Given the description of an element on the screen output the (x, y) to click on. 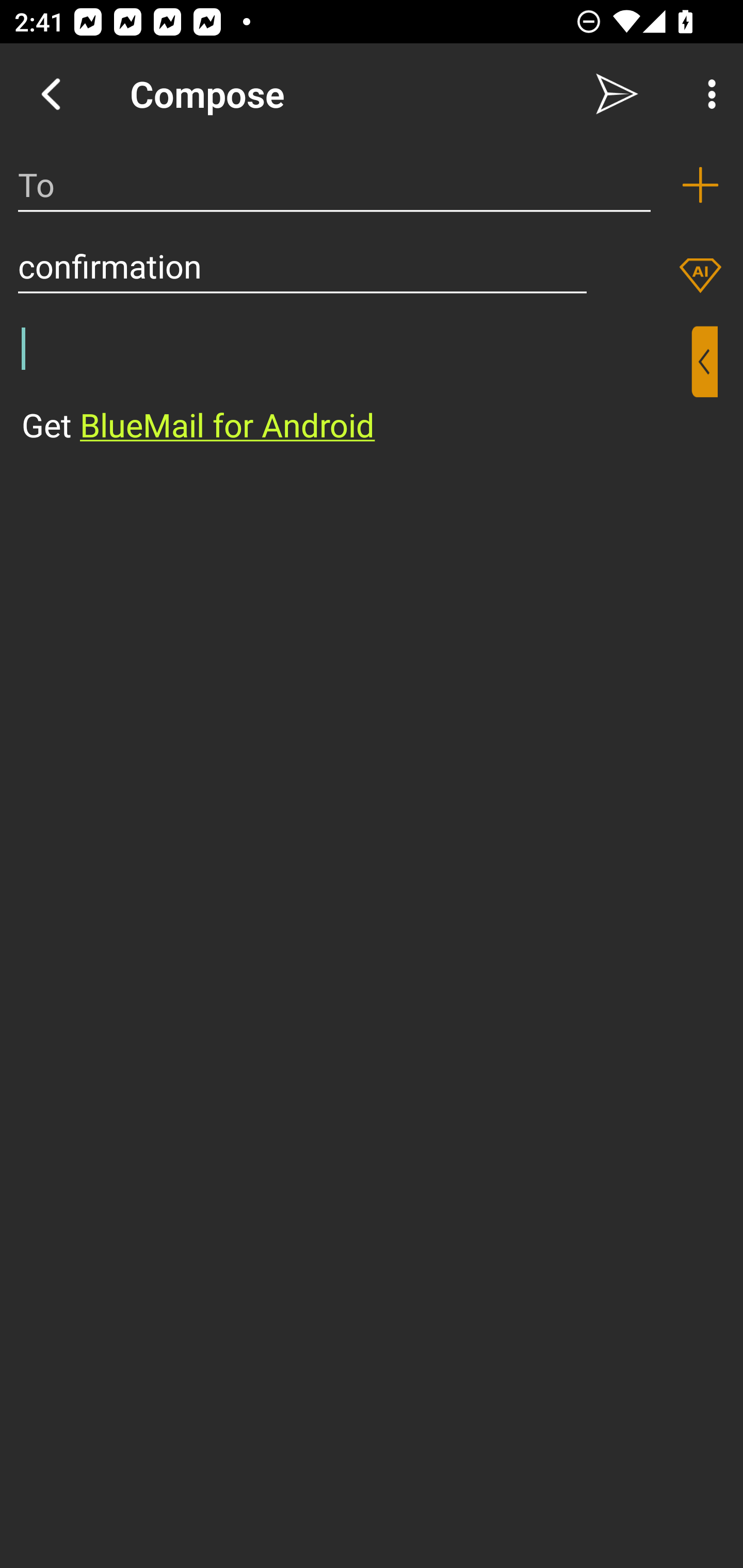
Navigate up (50, 93)
Send (616, 93)
More Options (706, 93)
To (334, 184)
Add recipient (To) (699, 184)
confirmation (302, 266)


⁣Get BlueMail for Android ​ (355, 386)
